Given the description of an element on the screen output the (x, y) to click on. 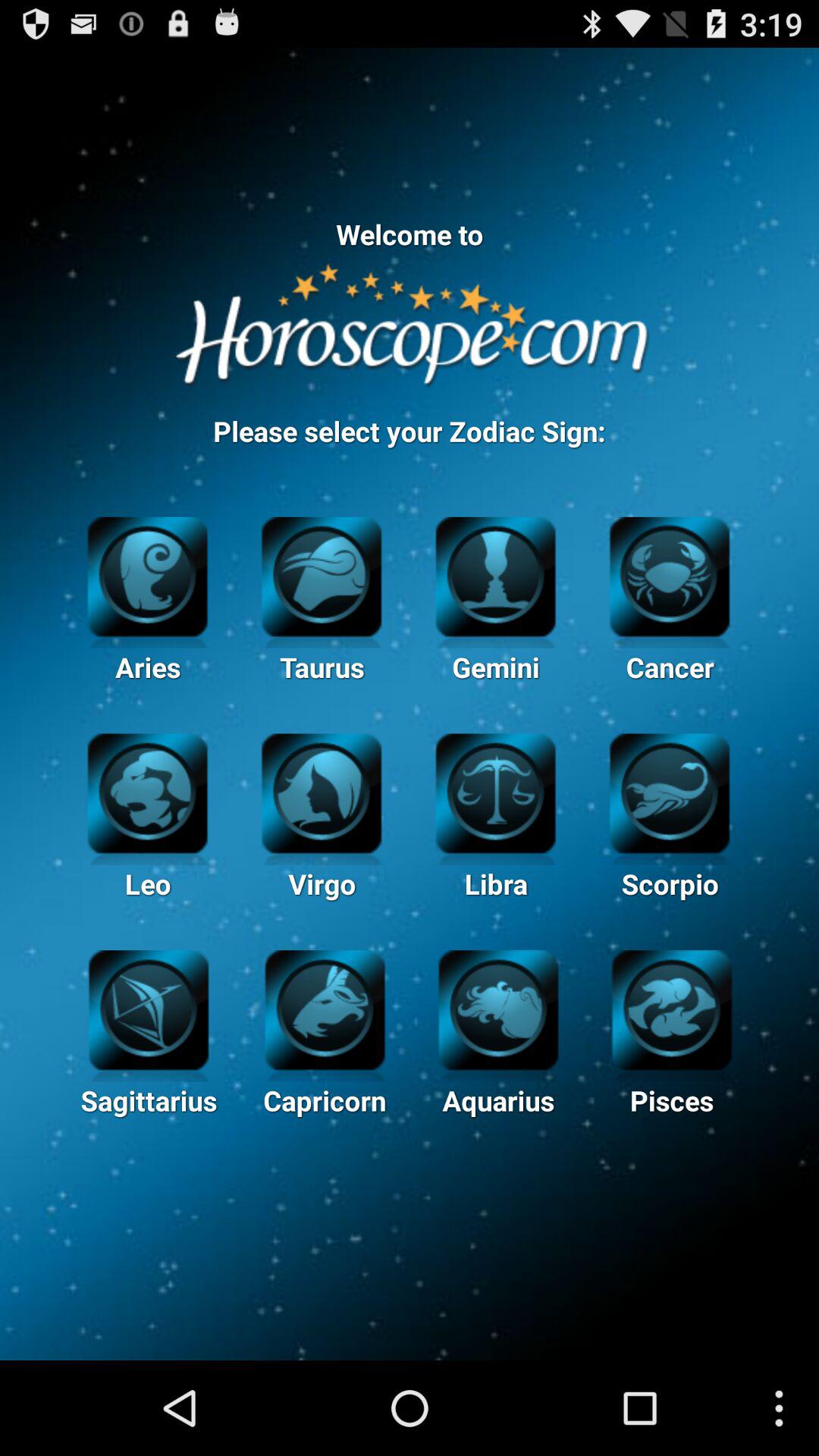
horoscope select option (669, 574)
